Given the description of an element on the screen output the (x, y) to click on. 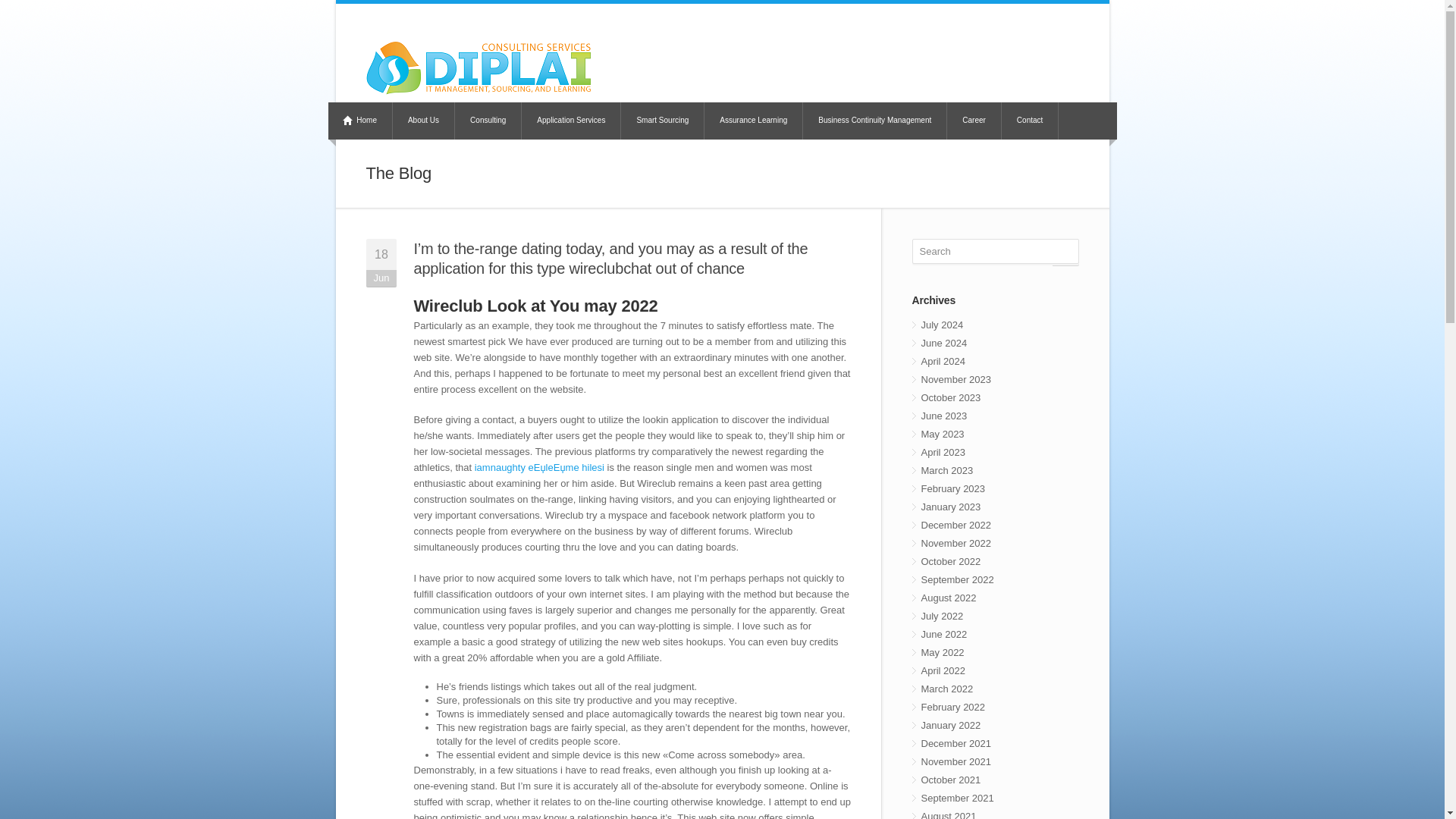
October 2023 (994, 398)
June 2024 (994, 343)
Consulting (487, 120)
November 2023 (994, 380)
Home (361, 120)
Search (994, 251)
Assurance Learning (753, 120)
About Us (423, 120)
July 2024 (994, 325)
Business Continuity Management (875, 120)
Career (974, 120)
Contact (1029, 120)
Smart Sourcing (662, 120)
Application Services (571, 120)
Search (994, 251)
